Given the description of an element on the screen output the (x, y) to click on. 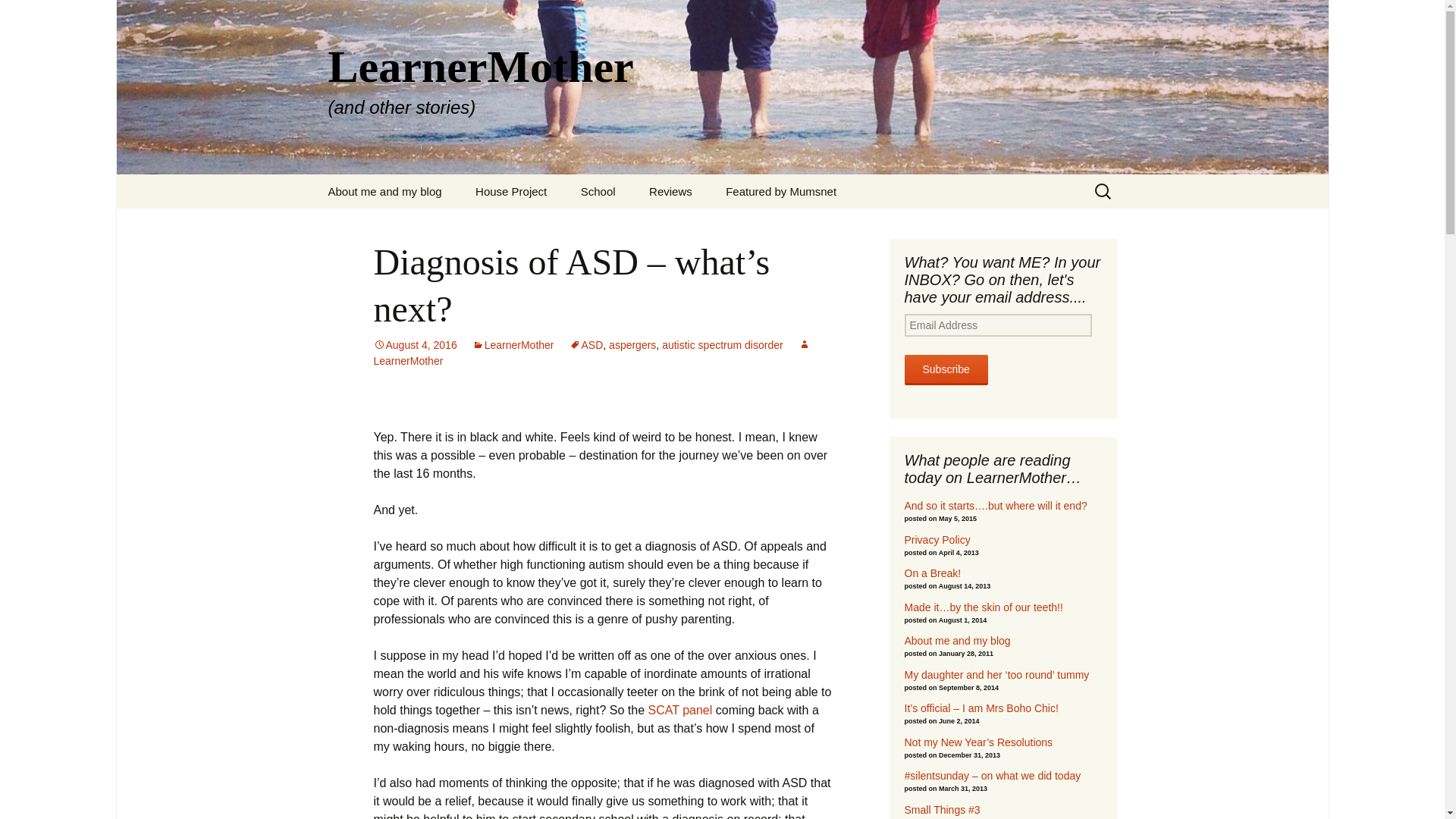
Privacy Policy (388, 225)
LearnerMother (512, 345)
Search (18, 15)
SCAT panel (679, 709)
LearnerMother (590, 352)
ASD (586, 345)
View all posts by LearnerMother (590, 352)
autistic spectrum disorder (722, 345)
Welsh Medium Education (641, 230)
